Given the description of an element on the screen output the (x, y) to click on. 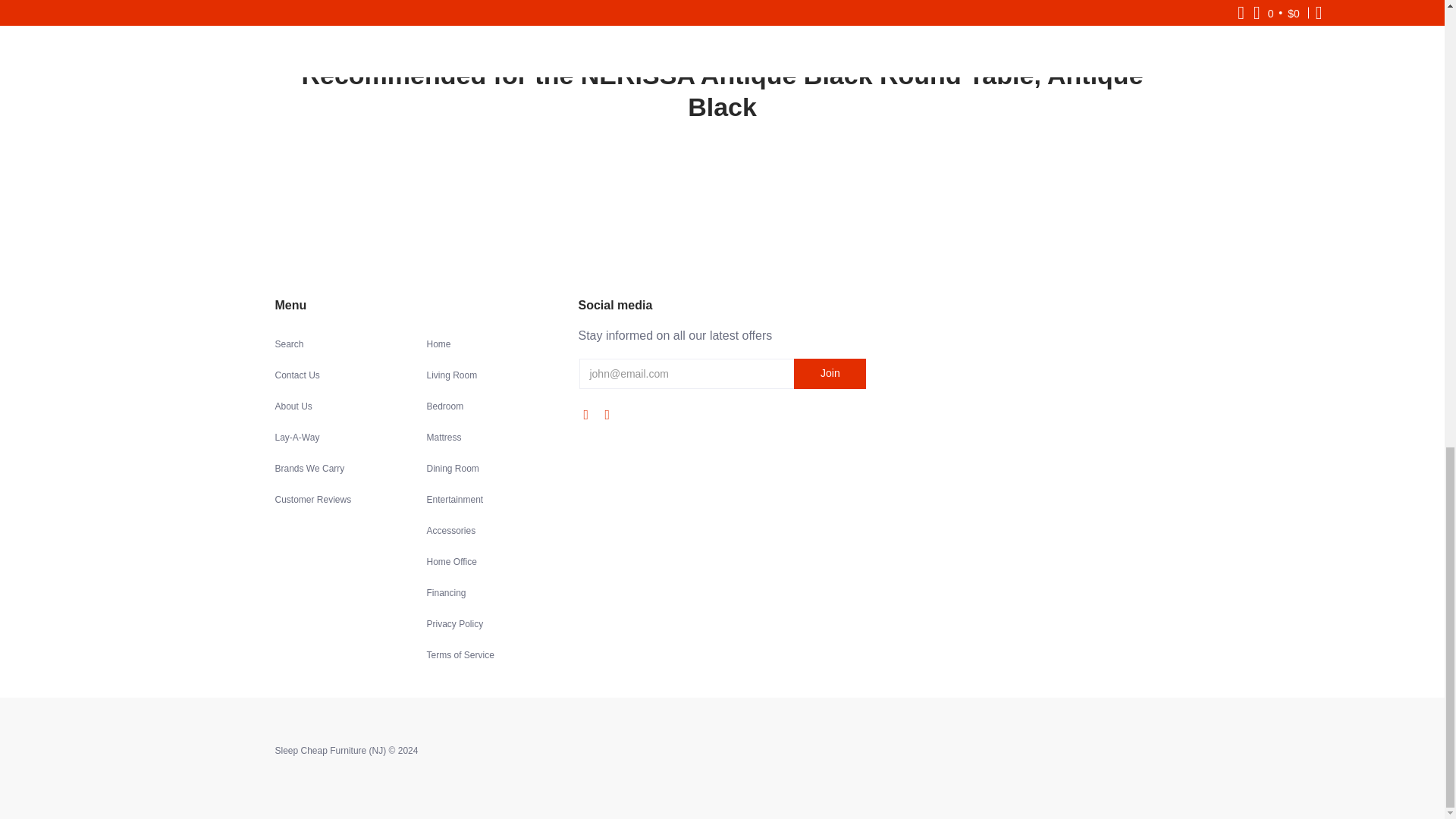
Join (829, 373)
